Given the description of an element on the screen output the (x, y) to click on. 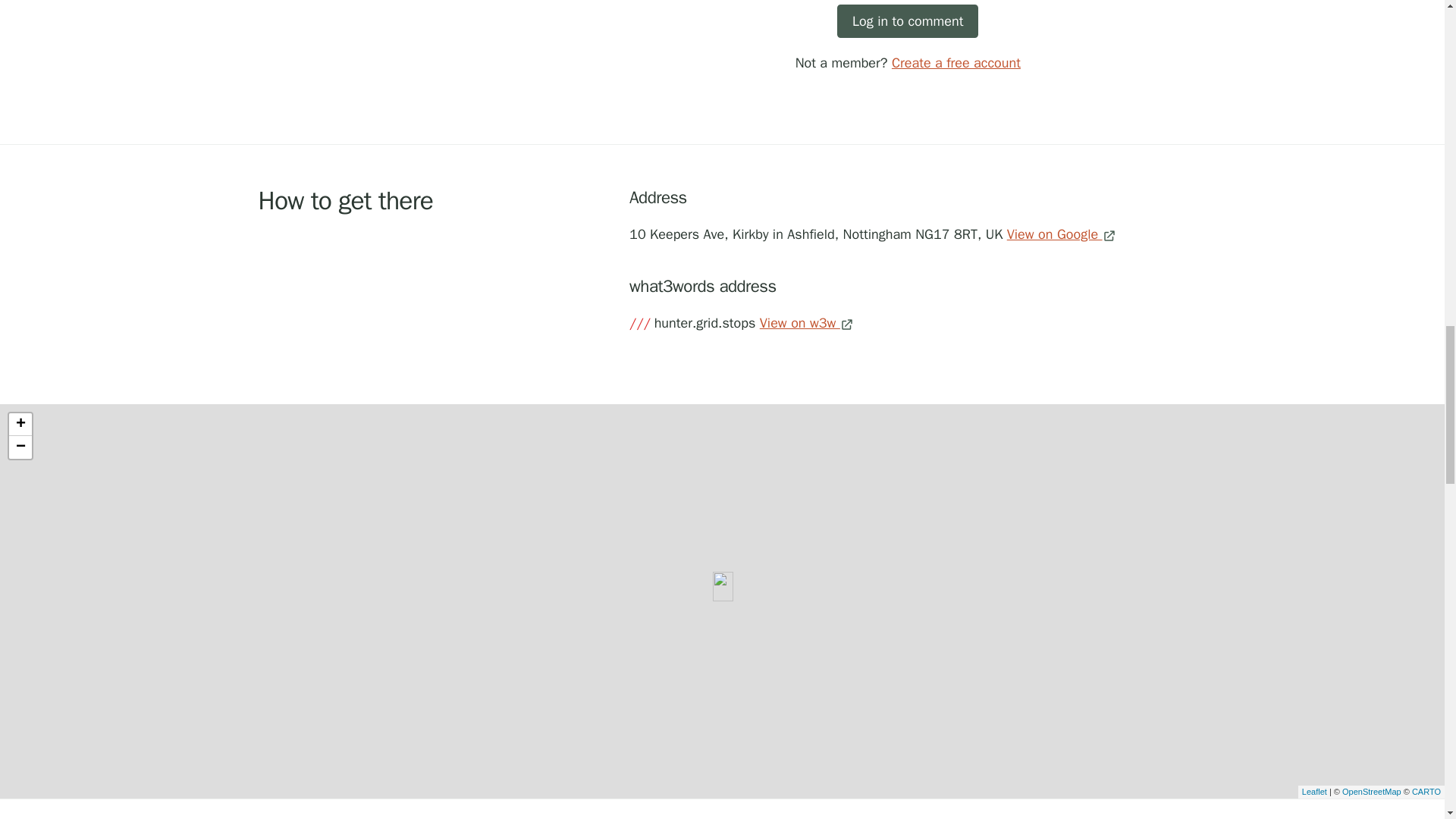
Zoom out (20, 446)
A JS library for interactive maps (1313, 791)
Zoom in (20, 424)
Log in to comment (907, 21)
View on Google (1061, 234)
Create a free account (955, 62)
View on w3w (806, 322)
Leaflet (1313, 791)
OpenStreetMap (1371, 791)
CARTO (1426, 791)
